Given the description of an element on the screen output the (x, y) to click on. 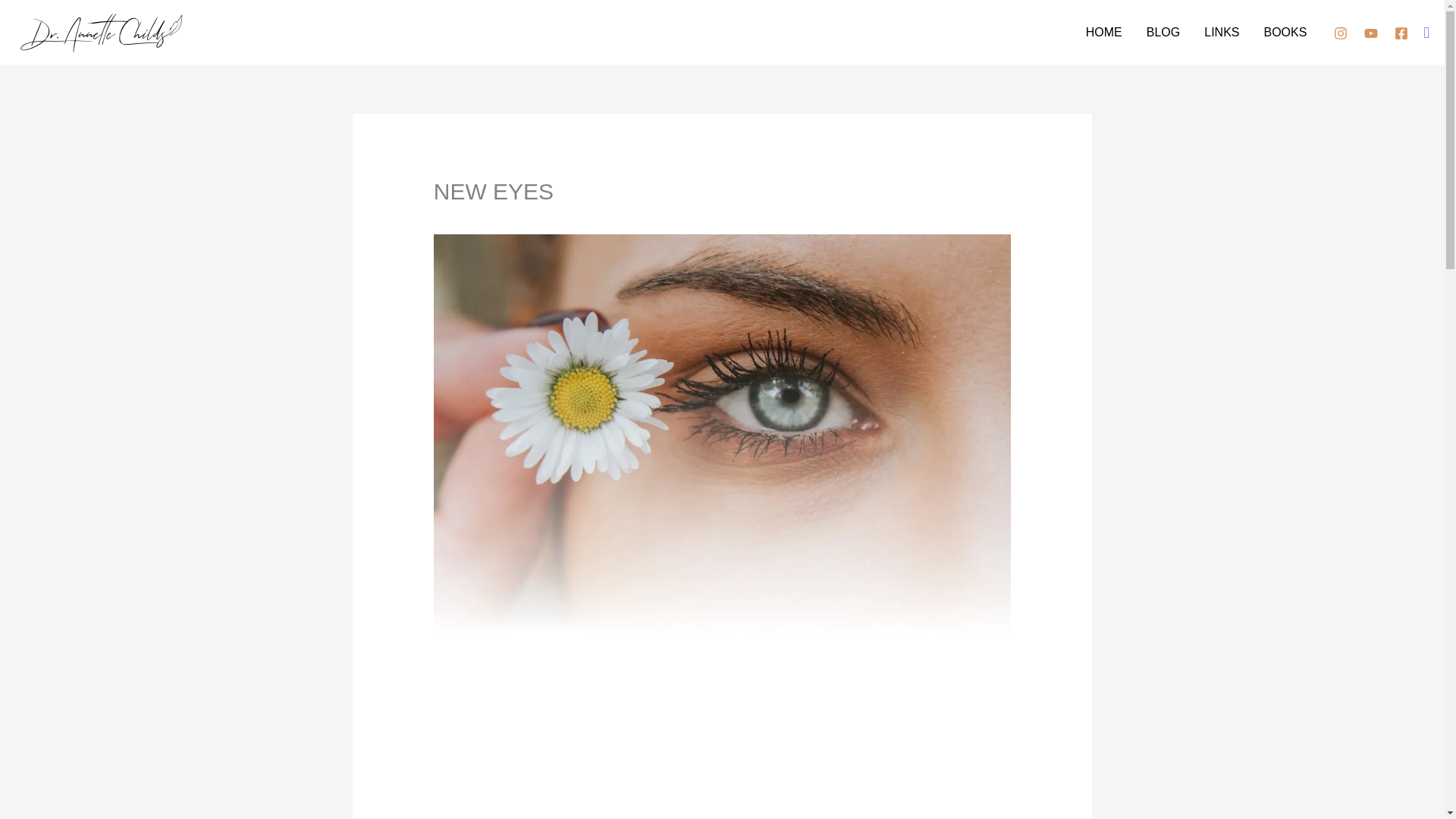
HOME (1104, 31)
BOOKS (1284, 31)
LINKS (1221, 31)
BLOG (1163, 31)
